Given the description of an element on the screen output the (x, y) to click on. 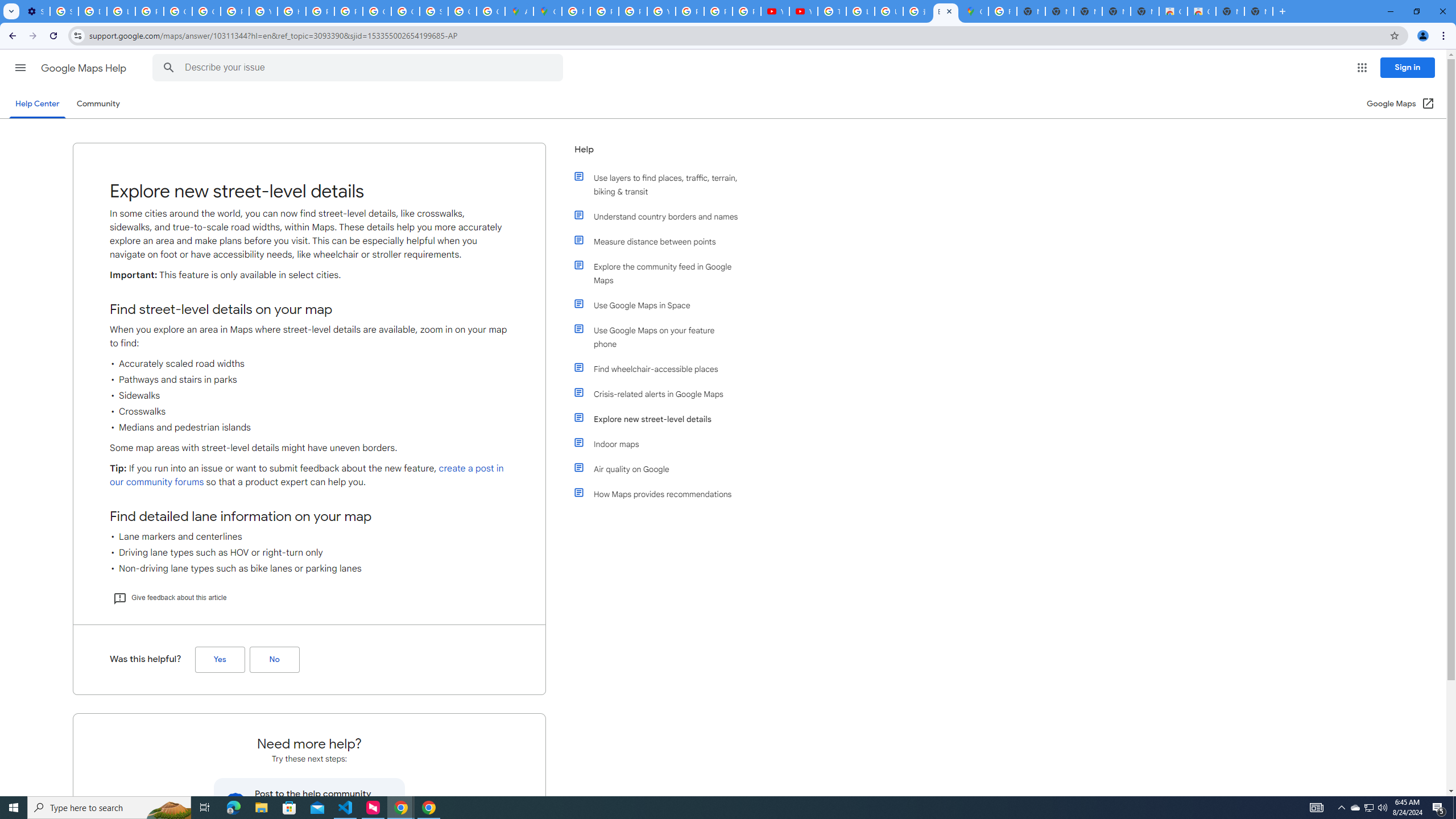
Crisis-related alerts in Google Maps (661, 394)
Describe your issue (359, 67)
YouTube (774, 11)
YouTube (661, 11)
Classic Blue - Chrome Web Store (1173, 11)
New Tab (1258, 11)
